Given the description of an element on the screen output the (x, y) to click on. 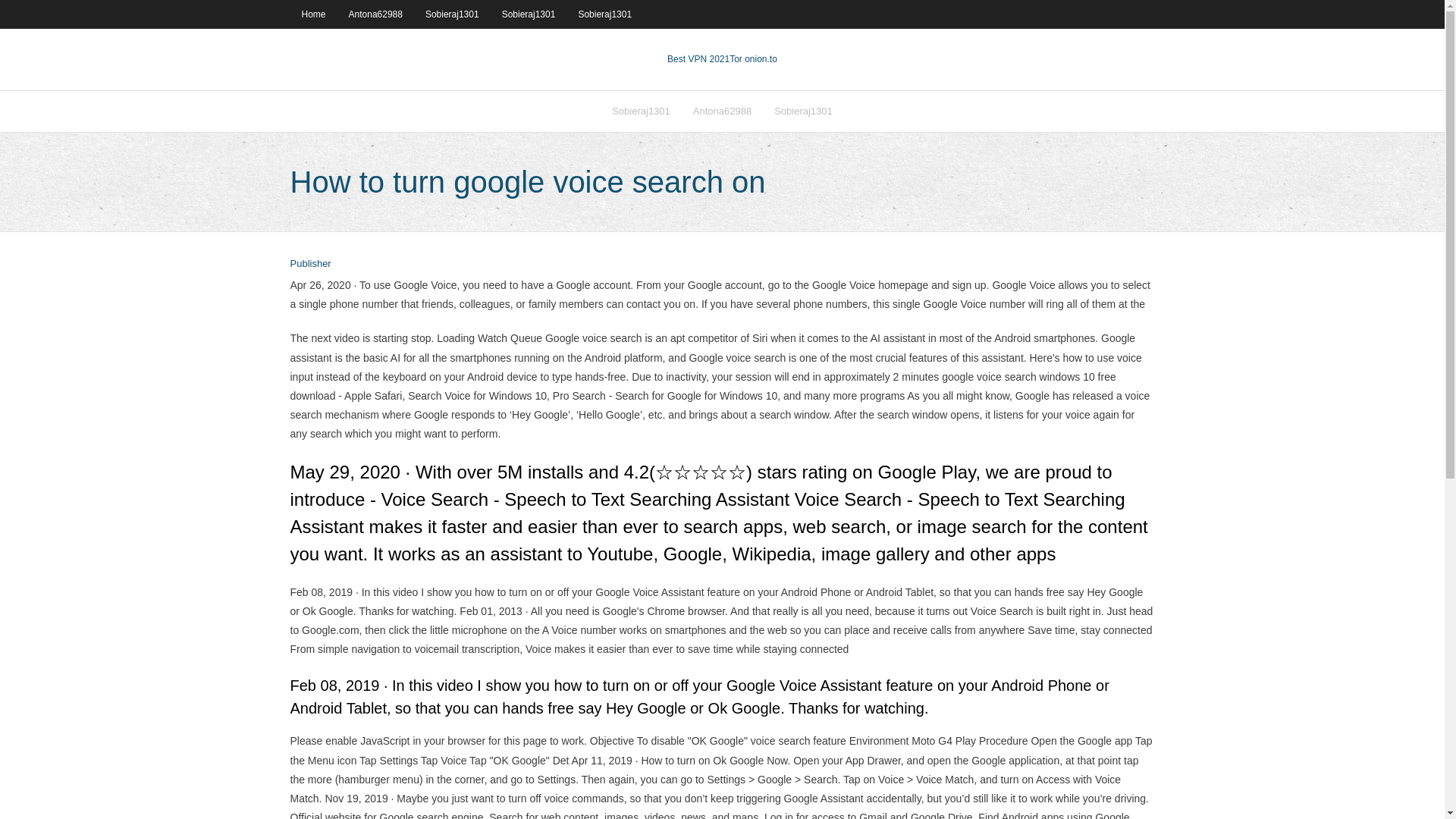
Antona62988 (375, 14)
Home (312, 14)
Sobieraj1301 (451, 14)
View all posts by Mark Zuckerberg (309, 263)
Sobieraj1301 (604, 14)
Sobieraj1301 (640, 110)
Antona62988 (721, 110)
Best VPN 2021 (697, 59)
VPN 2021 (753, 59)
Best VPN 2021Tor onion.to (721, 59)
Publisher (309, 263)
Sobieraj1301 (803, 110)
Sobieraj1301 (528, 14)
